Given the description of an element on the screen output the (x, y) to click on. 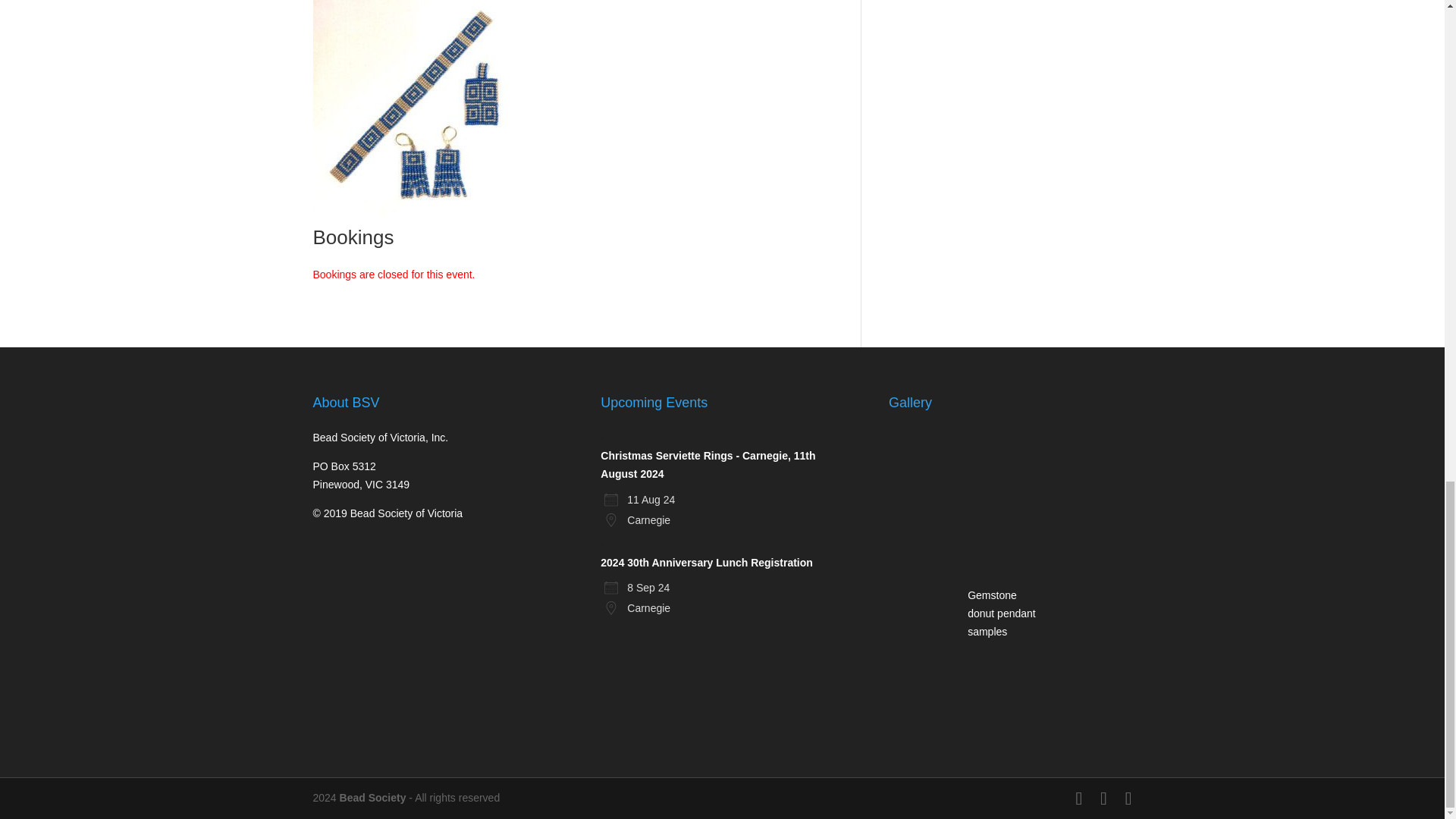
Bead Challenge 2023 Lynda Taylor 1 (924, 468)
2023Members Originals Nita Weller (1004, 680)
Bead Challenge Nita Weller first place public vote (1004, 468)
Members Original Joanne Ivy, Aegean Sea, 1st Place (1082, 468)
